Given the description of an element on the screen output the (x, y) to click on. 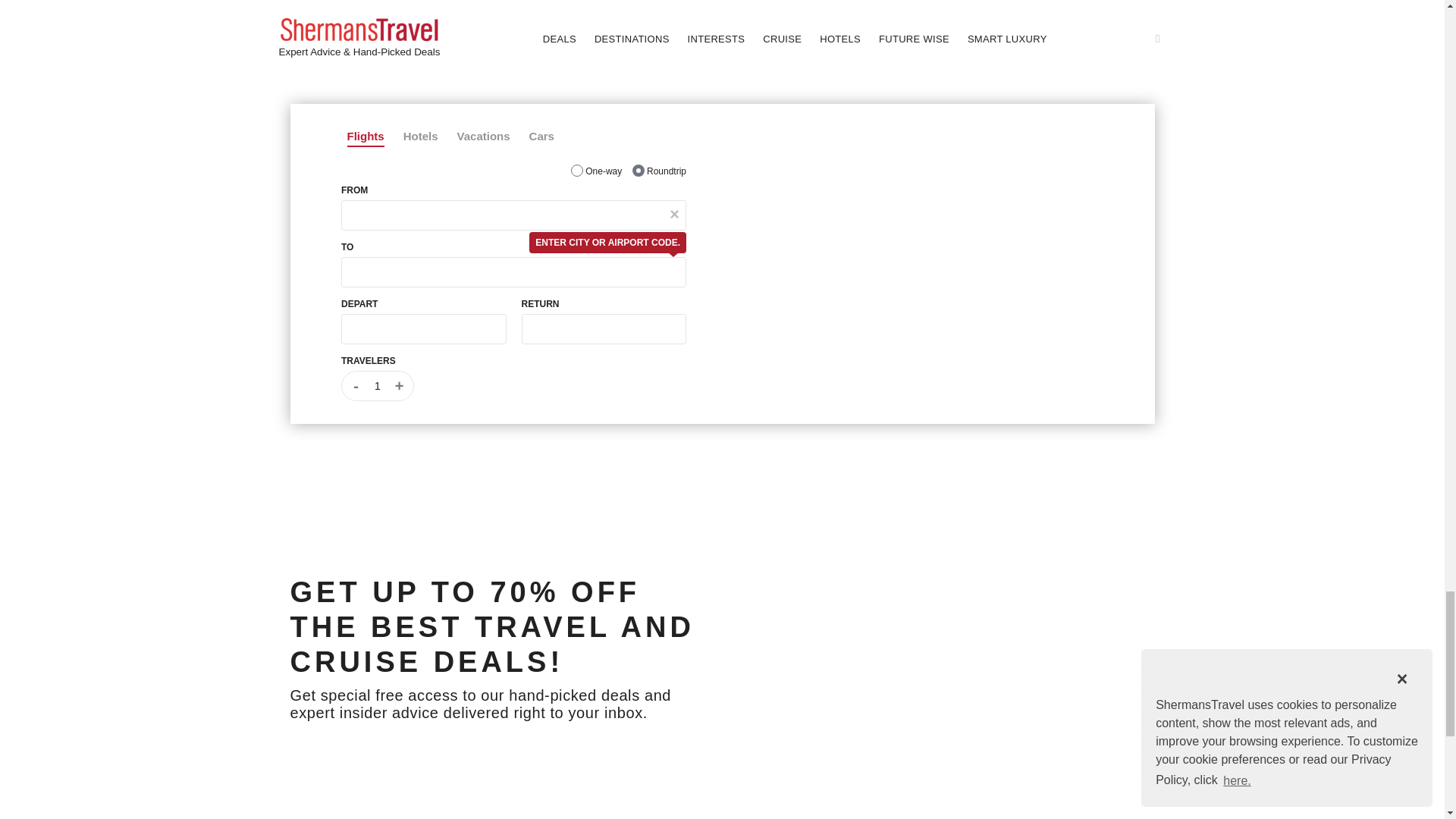
Flights (365, 136)
Hotels (420, 135)
1 (576, 170)
2 (638, 170)
